Given the description of an element on the screen output the (x, y) to click on. 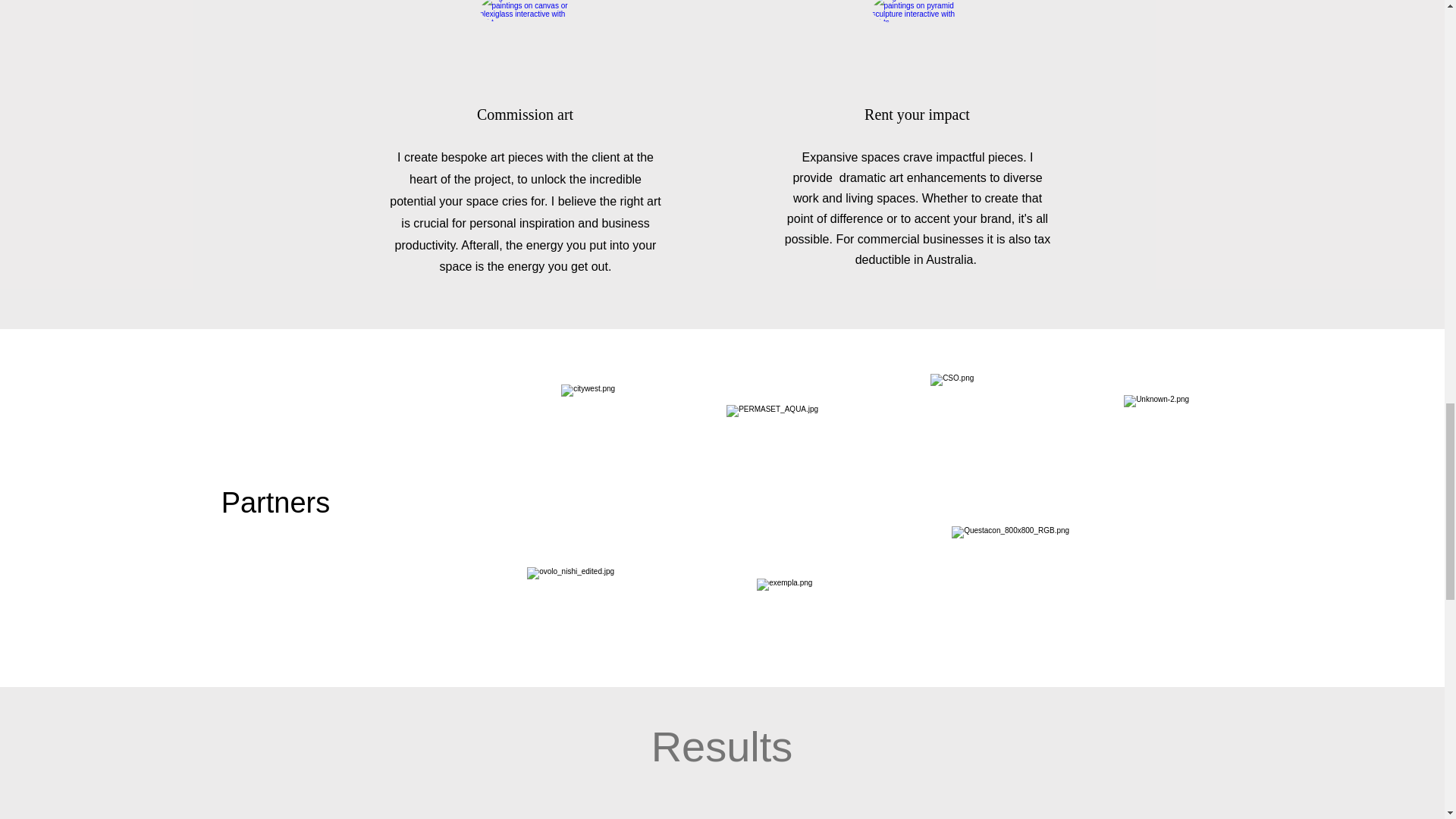
Commission art (525, 114)
Rent your impact (916, 114)
'Pyramid' at Ovolo hotel interative wt lights (917, 42)
'5 Elements' under UV light (524, 42)
